Given the description of an element on the screen output the (x, y) to click on. 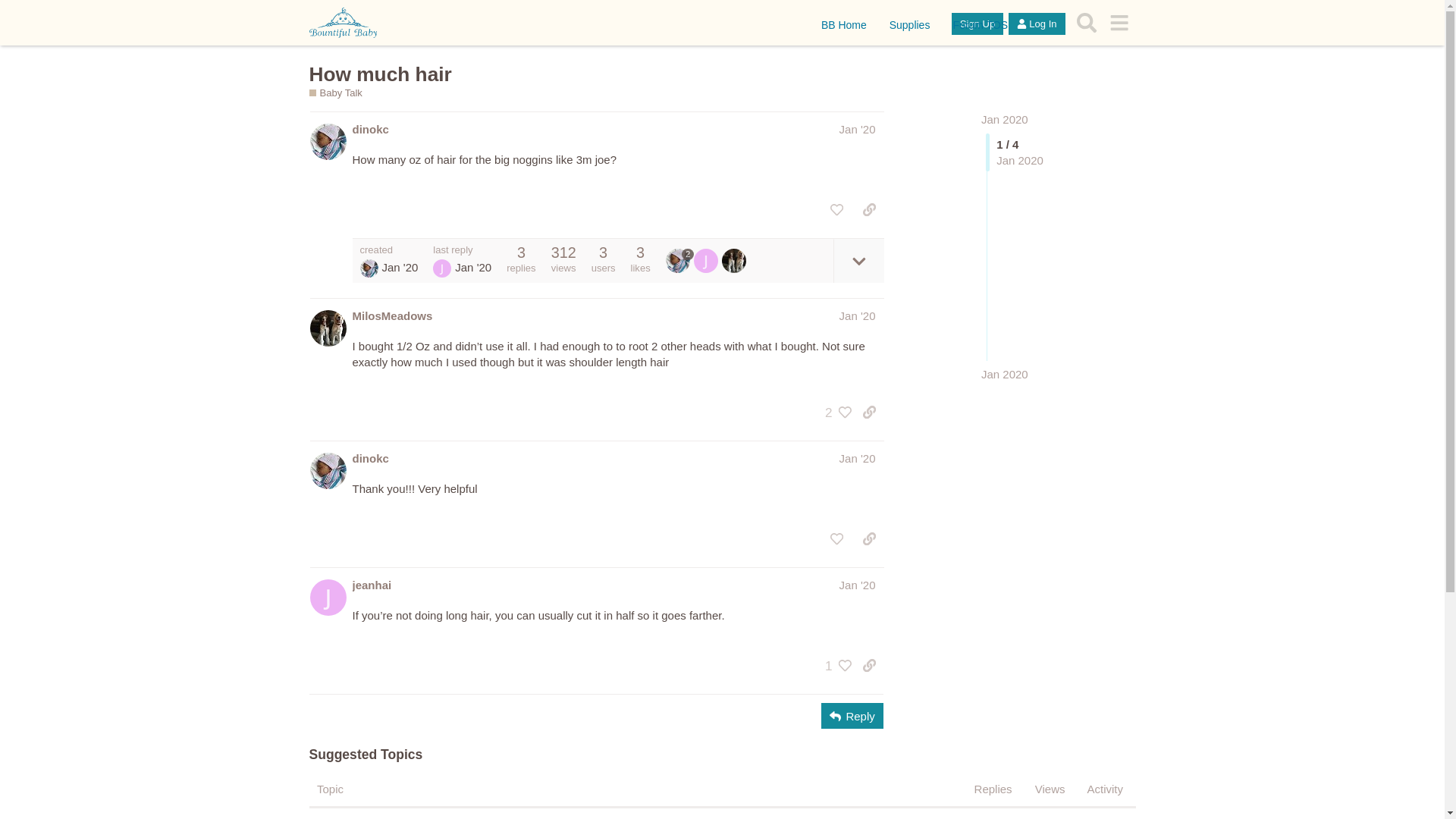
jeanhai (371, 584)
Jan 25, 2020 7:49 am (473, 267)
last reply (462, 249)
dinokc (370, 458)
BB Home (844, 24)
menu (1119, 22)
dinokc (679, 260)
2 (833, 412)
Jan '20 (858, 315)
Jan 25, 2020 7:49 am (1004, 373)
Post date (858, 128)
Supplies (909, 24)
MilosMeadows (392, 315)
Jan '20 (858, 458)
jeanhai (708, 260)
